Given the description of an element on the screen output the (x, y) to click on. 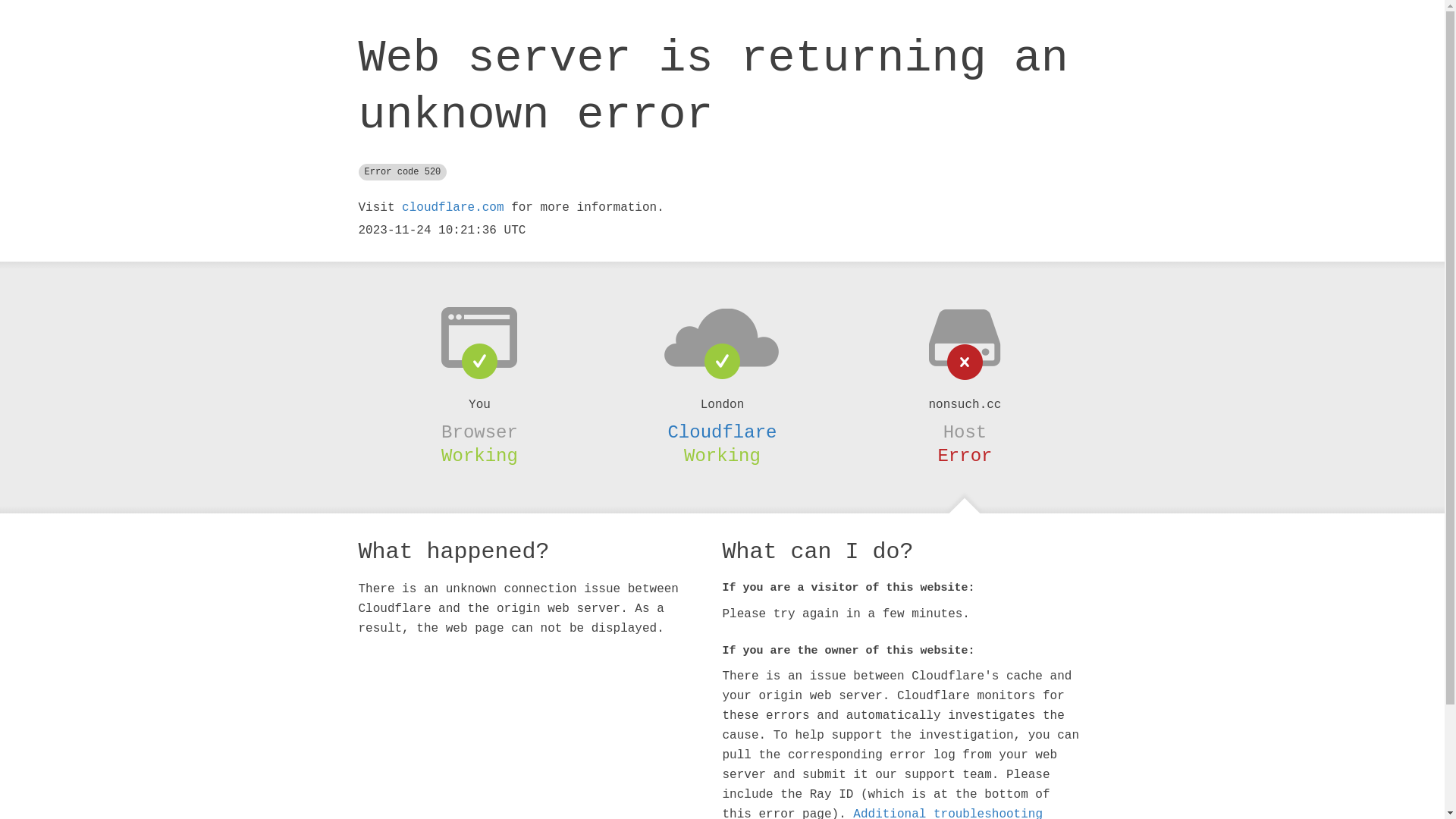
Cloudflare Element type: text (721, 432)
cloudflare.com Element type: text (452, 207)
